Given the description of an element on the screen output the (x, y) to click on. 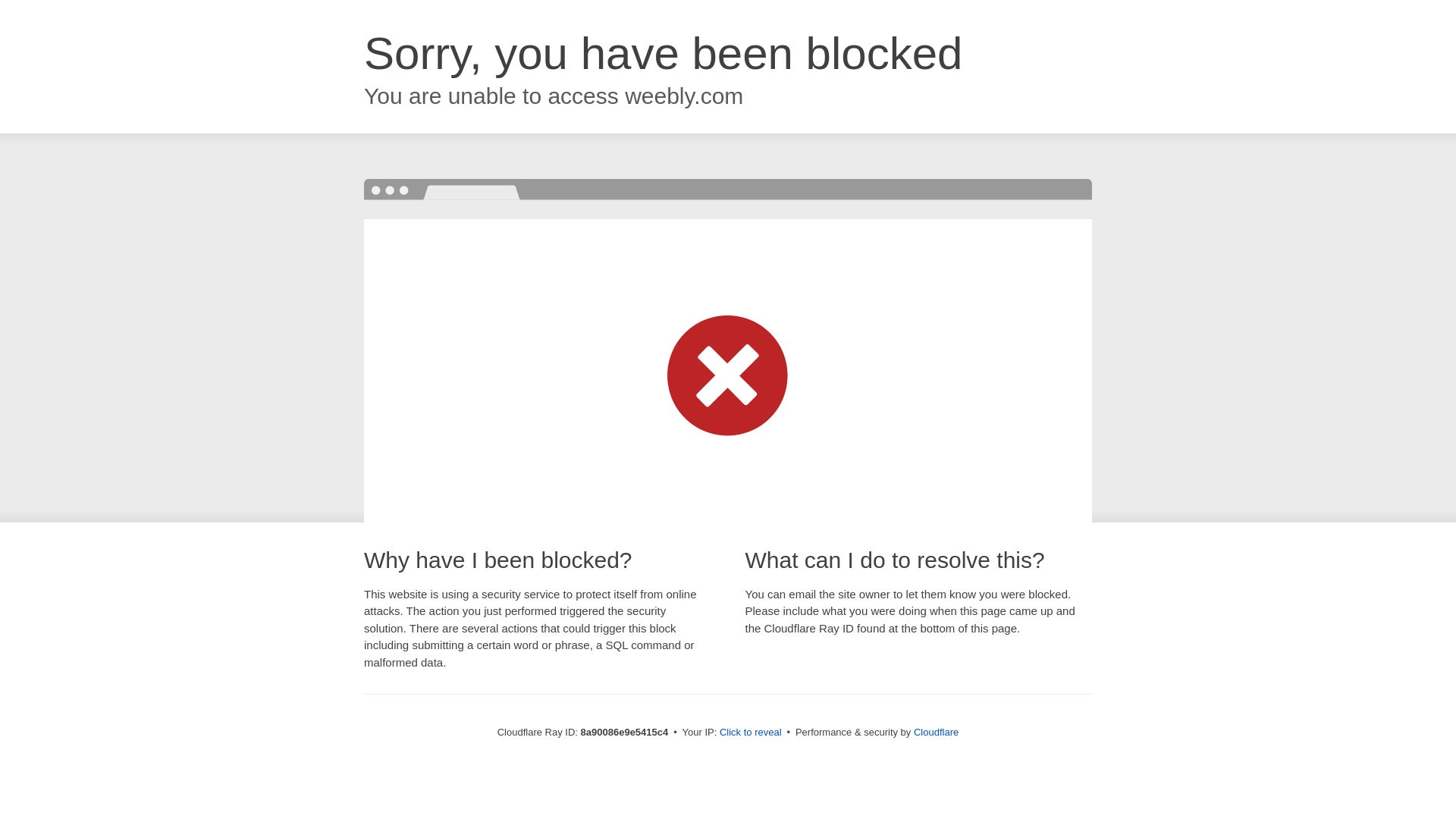
Cloudflare (936, 731)
Click to reveal (750, 732)
